Given the description of an element on the screen output the (x, y) to click on. 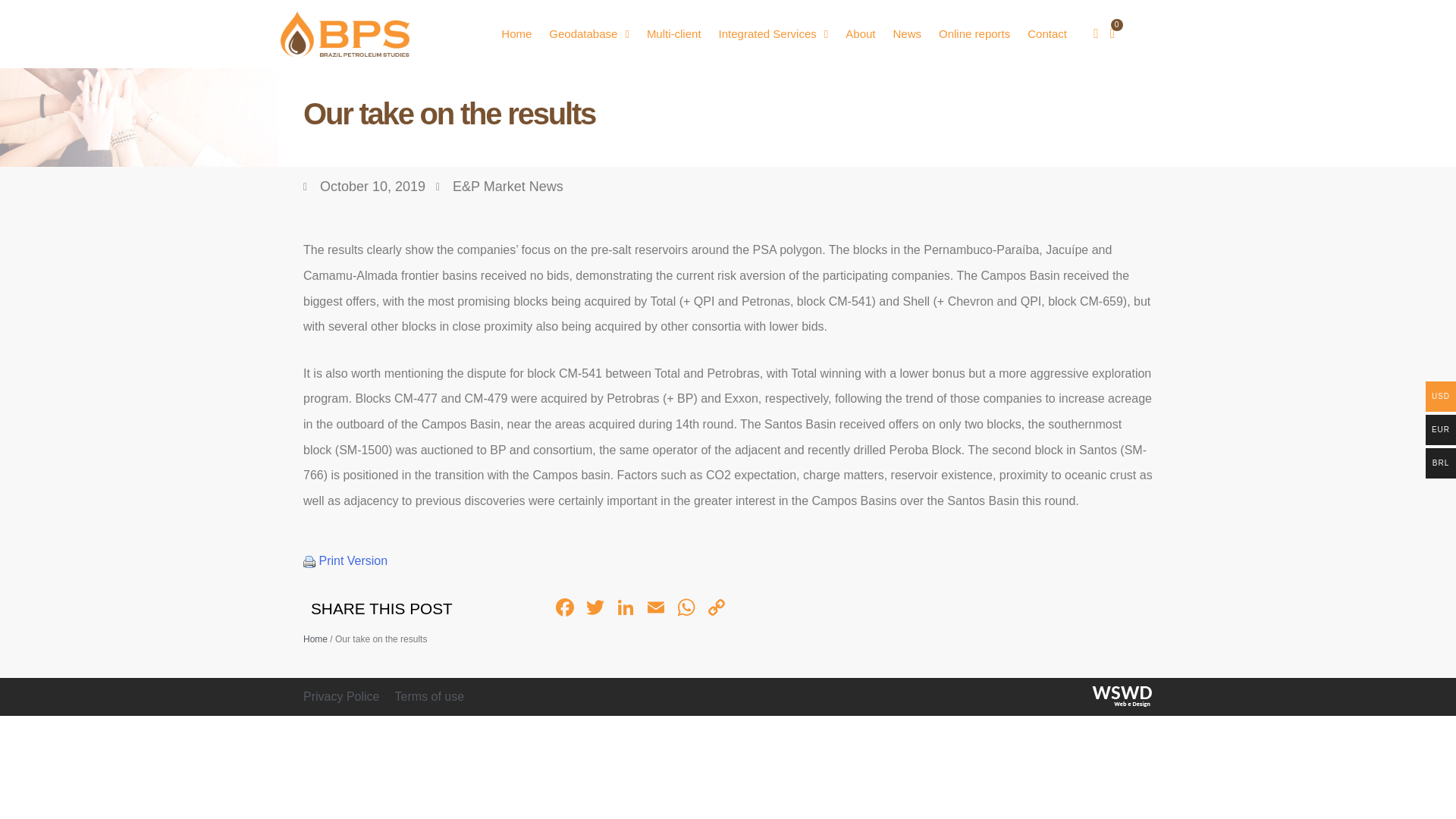
Geodatabase (588, 33)
WhatsApp (686, 609)
LinkedIn (625, 609)
Contact (1047, 33)
Email (655, 609)
Copy Link (716, 609)
Multi-client (673, 33)
Twitter (594, 609)
Online reports (974, 33)
Print Version (352, 560)
Facebook (564, 609)
Integrated Services (773, 33)
